Given the description of an element on the screen output the (x, y) to click on. 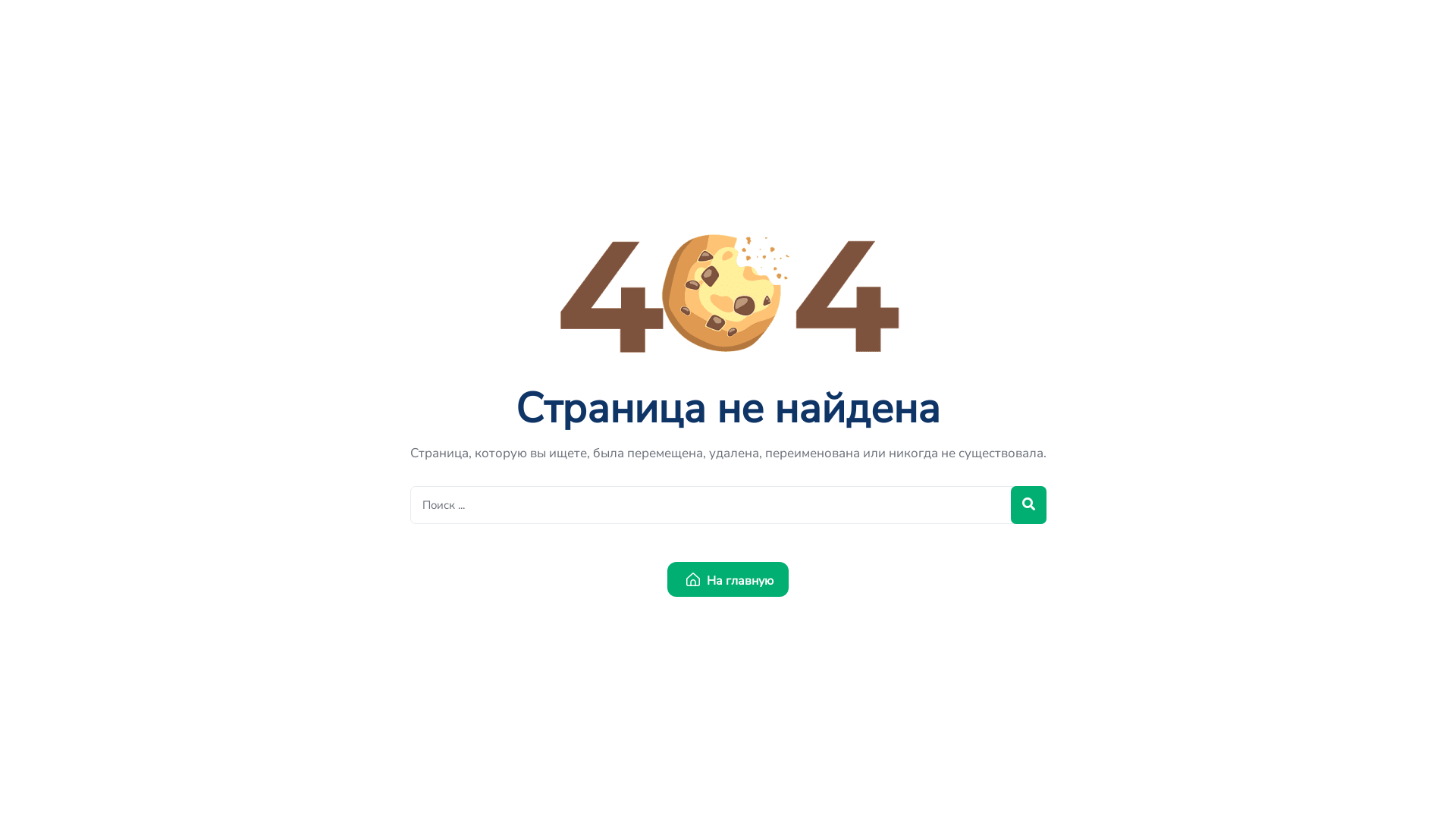
Search Element type: hover (727, 505)
